Given the description of an element on the screen output the (x, y) to click on. 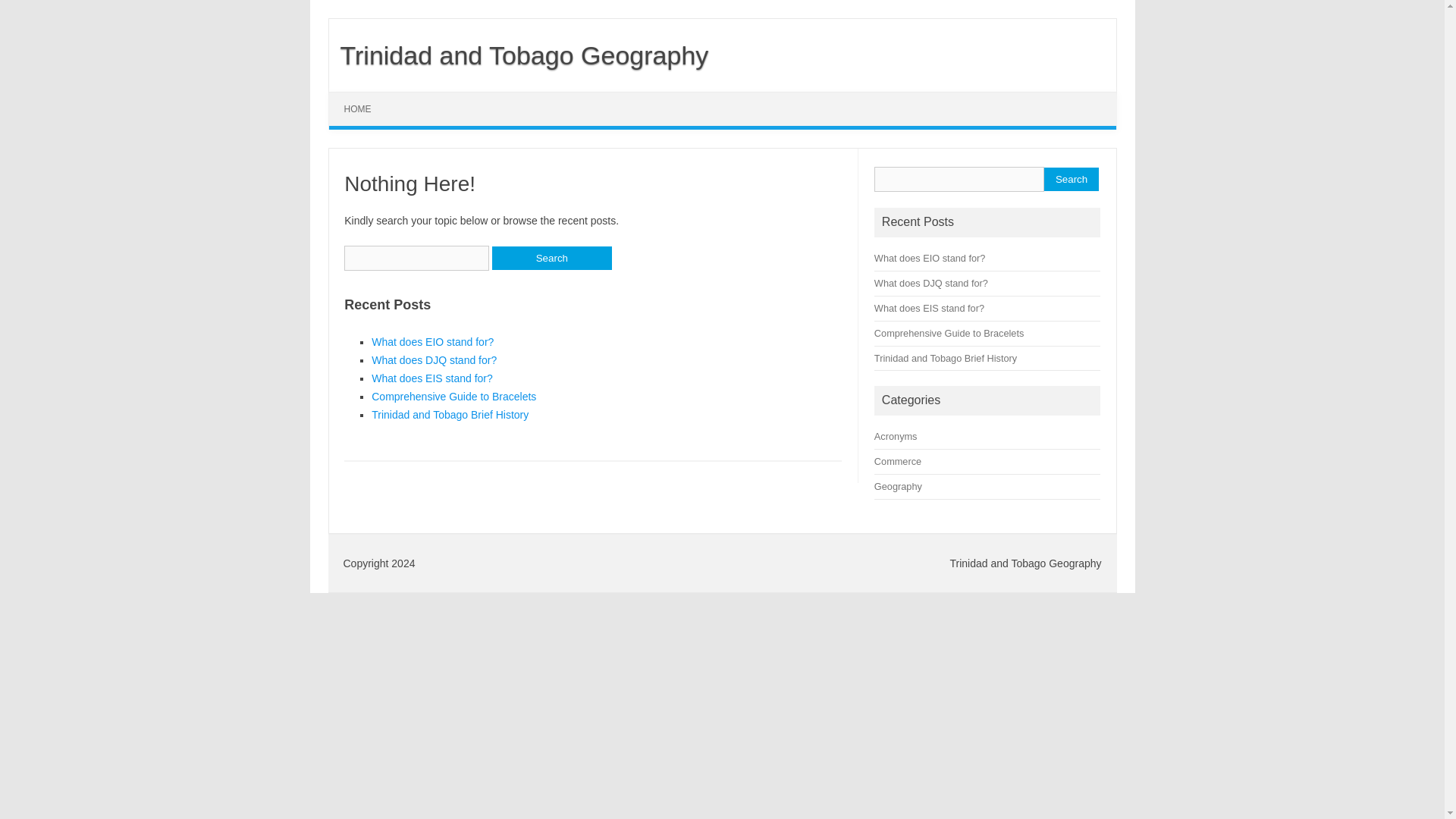
Search (1070, 178)
Search (551, 258)
What does EIO stand for? (930, 257)
Commerce (898, 460)
Trinidad and Tobago Geography (519, 54)
What does EIS stand for? (929, 307)
Comprehensive Guide to Bracelets (949, 333)
Skip to content (363, 96)
Trinidad and Tobago Brief History (945, 357)
Search (551, 258)
